Given the description of an element on the screen output the (x, y) to click on. 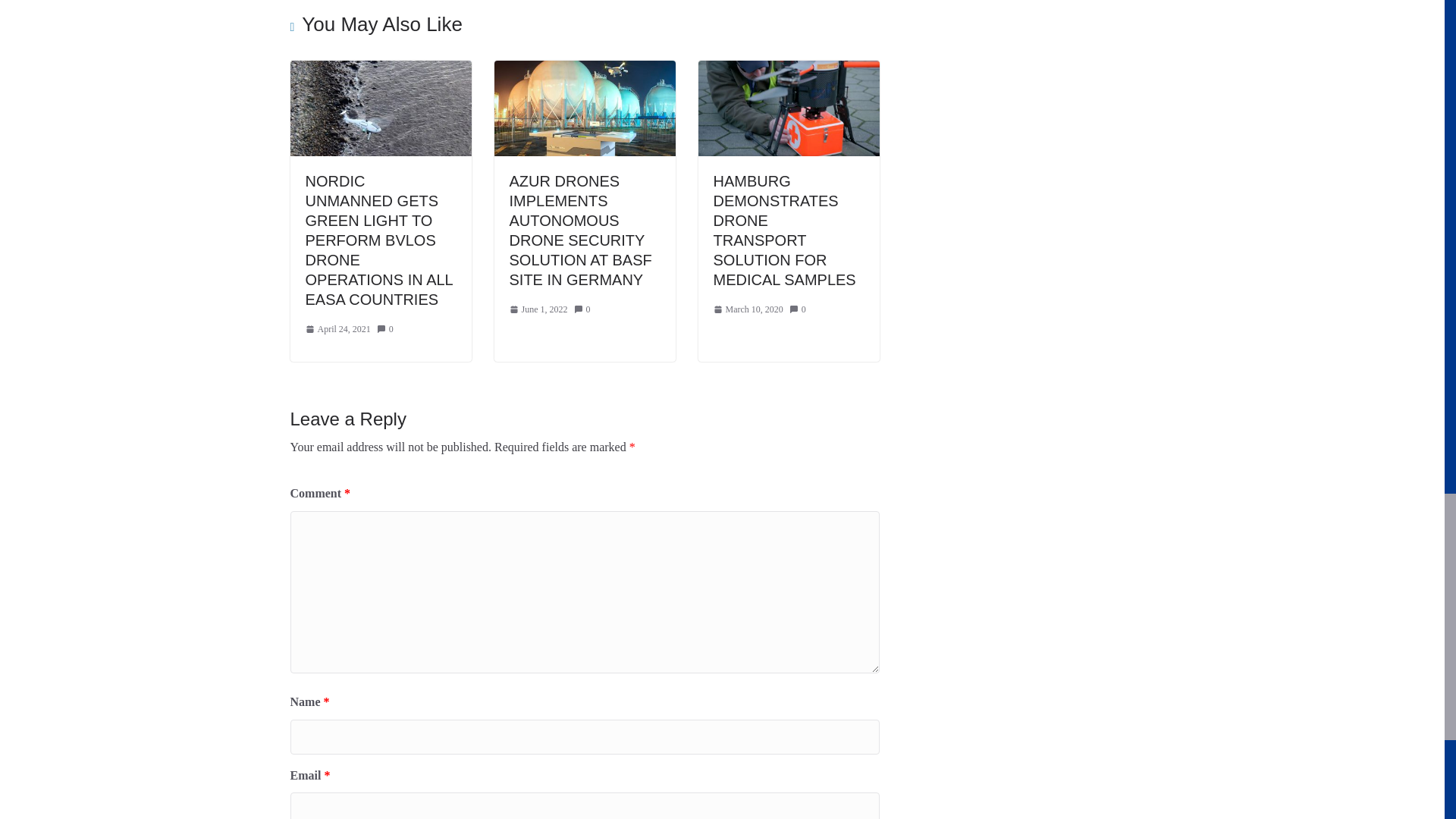
09:06 (336, 329)
June 1, 2022 (538, 310)
16:30 (538, 310)
April 24, 2021 (336, 329)
